Given the description of an element on the screen output the (x, y) to click on. 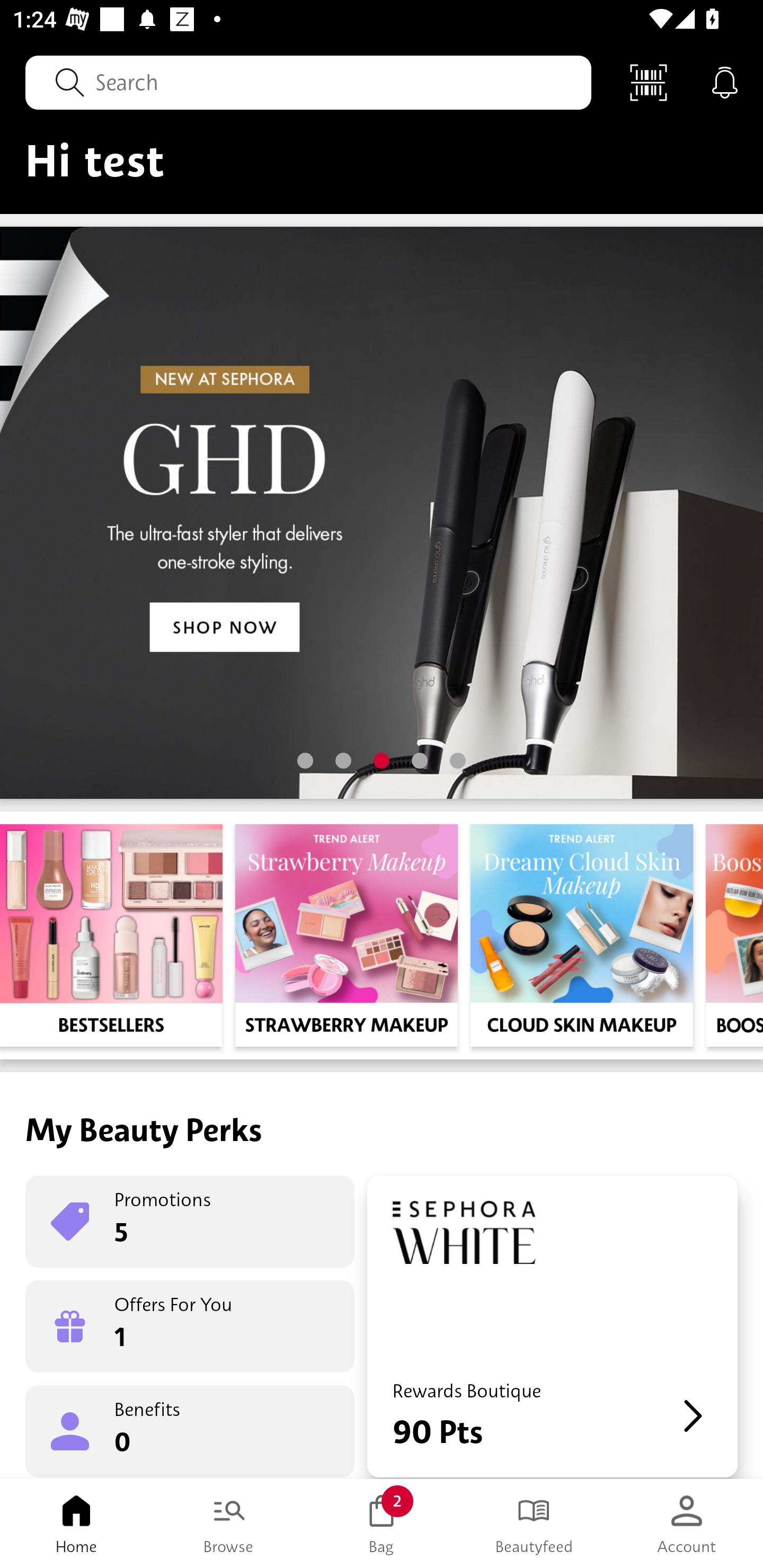
Scan Code (648, 81)
Notifications (724, 81)
Search (308, 81)
Promotions 5 (189, 1221)
Rewards Boutique 90 Pts (552, 1326)
Offers For You 1 (189, 1326)
Benefits 0 (189, 1430)
Browse (228, 1523)
Bag 2 Bag (381, 1523)
Beautyfeed (533, 1523)
Account (686, 1523)
